Given the description of an element on the screen output the (x, y) to click on. 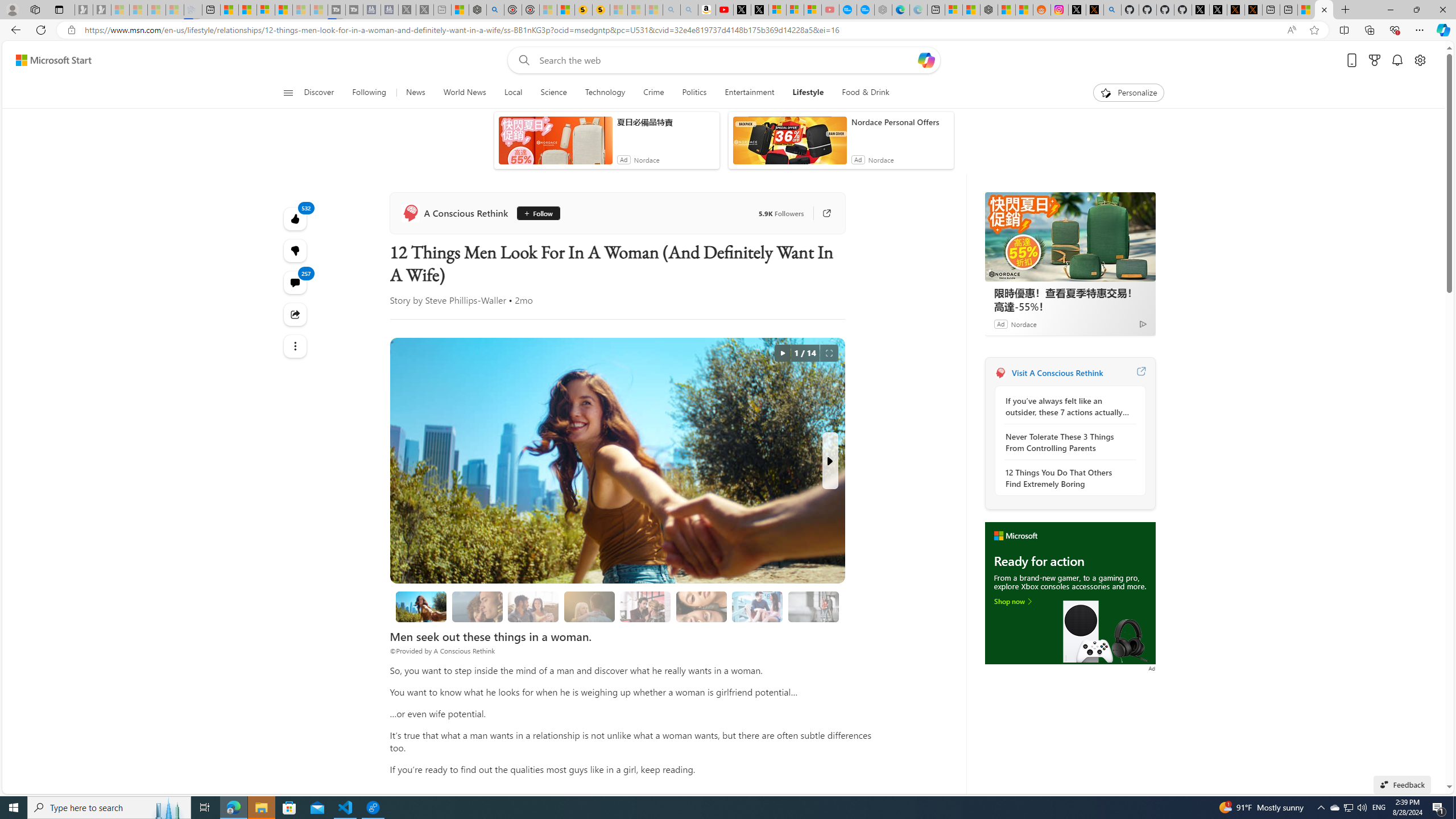
Local (512, 92)
1. She is compassionate. (477, 606)
3. People flirt with you and want your company. (757, 606)
3. She is appreciative. (589, 606)
1. She is compassionate. (476, 606)
New tab - Sleeping (442, 9)
Nordace Personal Offers (899, 121)
Enter your search term (726, 59)
3. People flirt with you and want your company. (756, 606)
